Given the description of an element on the screen output the (x, y) to click on. 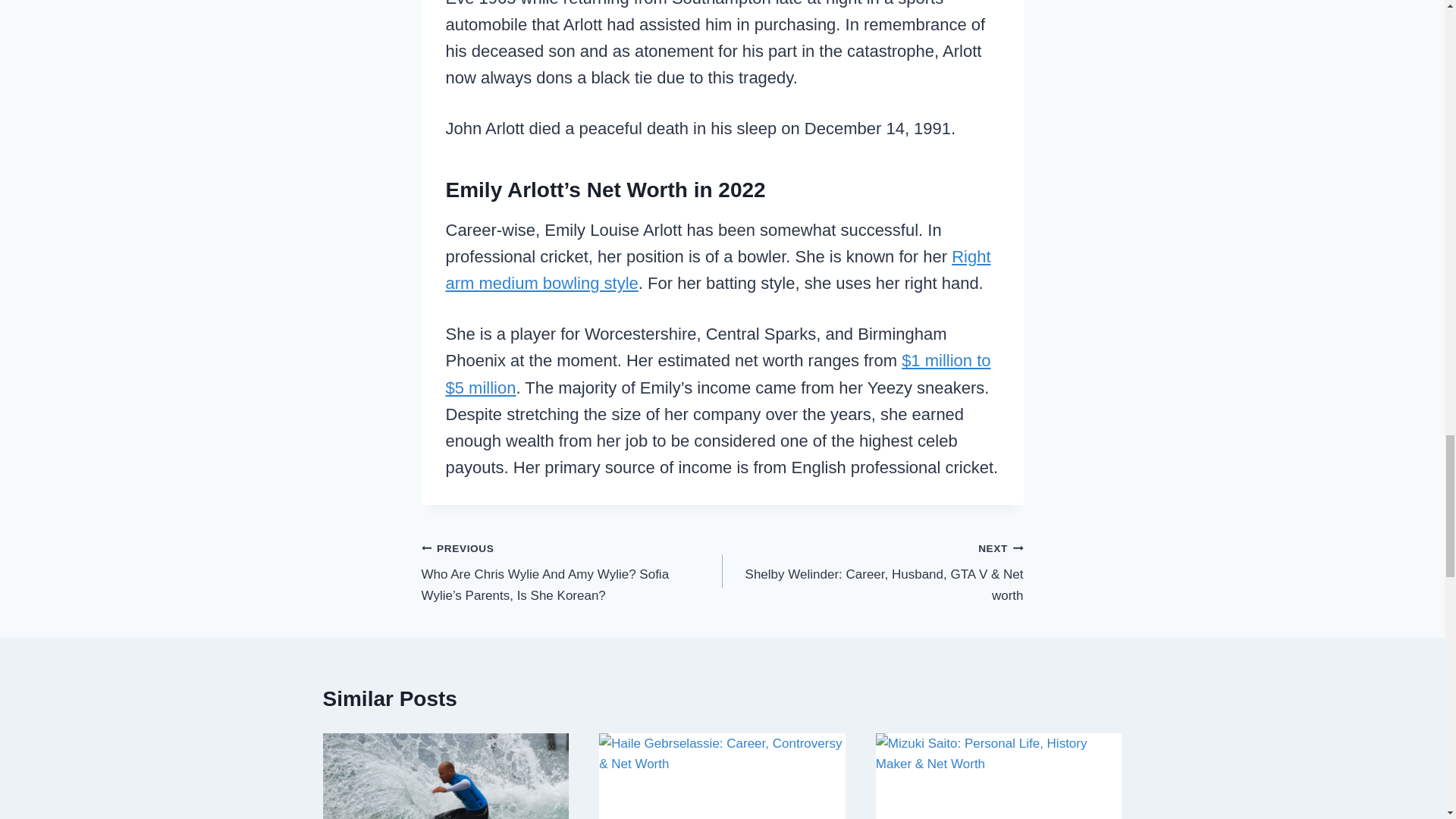
Right arm medium bowling style (718, 269)
